Given the description of an element on the screen output the (x, y) to click on. 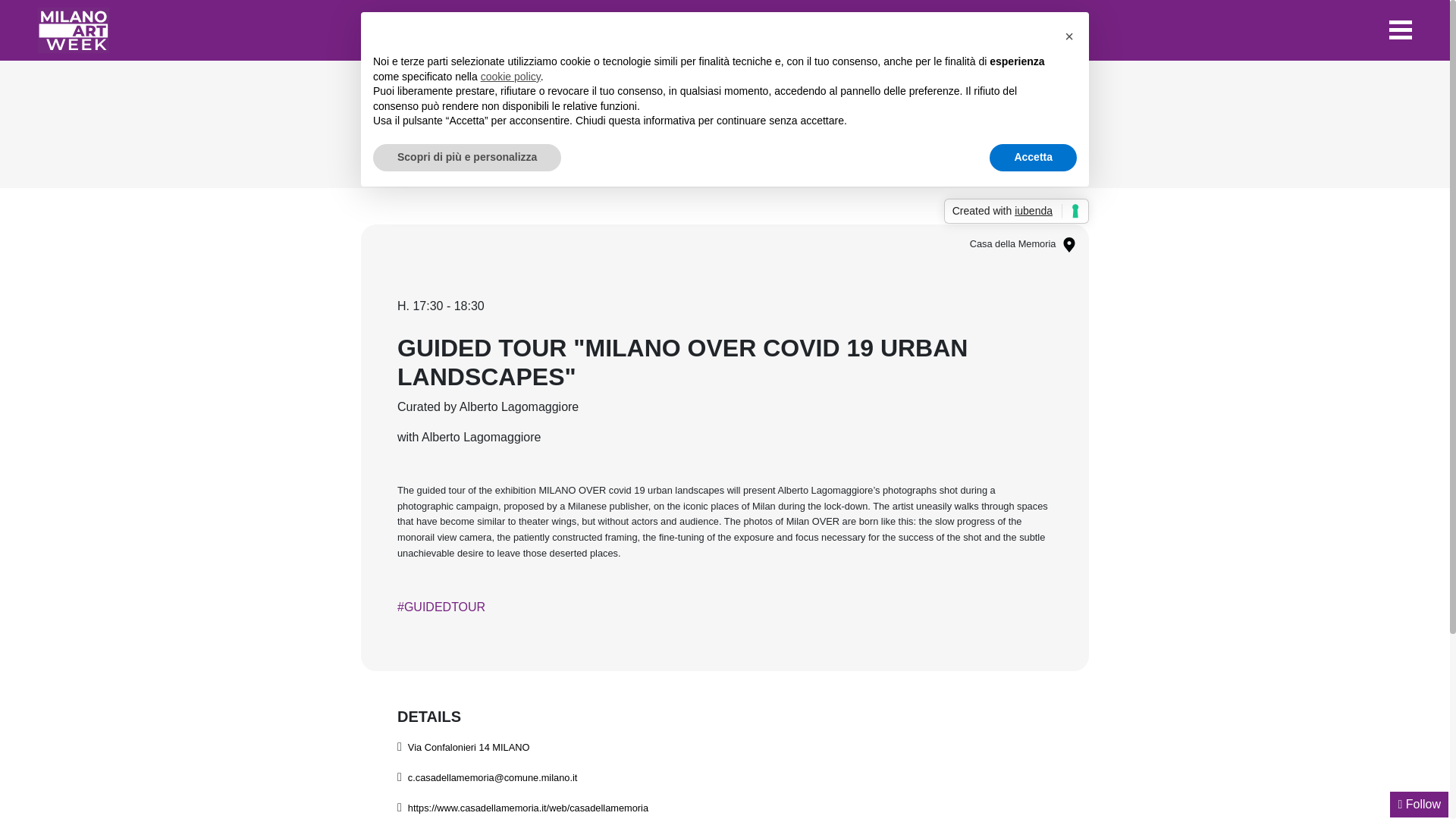
Created with iubenda (847, 124)
Via Confalonieri 14 MILANO (1016, 211)
cookie policy (468, 747)
Follow (660, 124)
Accetta (725, 124)
